Given the description of an element on the screen output the (x, y) to click on. 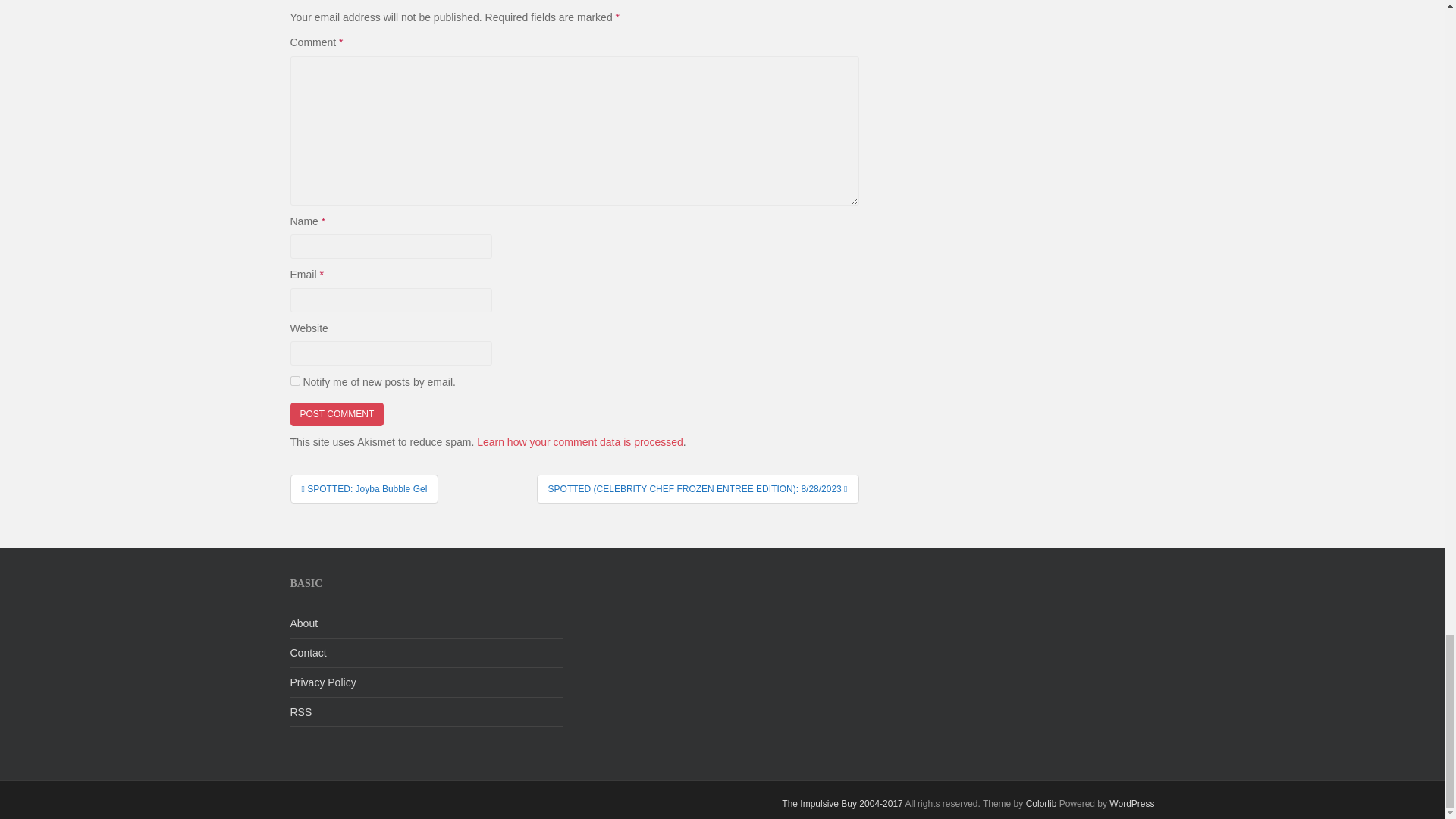
Post Comment (336, 413)
Post Comment (336, 413)
Learn how your comment data is processed (579, 441)
SPOTTED: Joyba Bubble Gel (363, 489)
subscribe (294, 380)
